Given the description of an element on the screen output the (x, y) to click on. 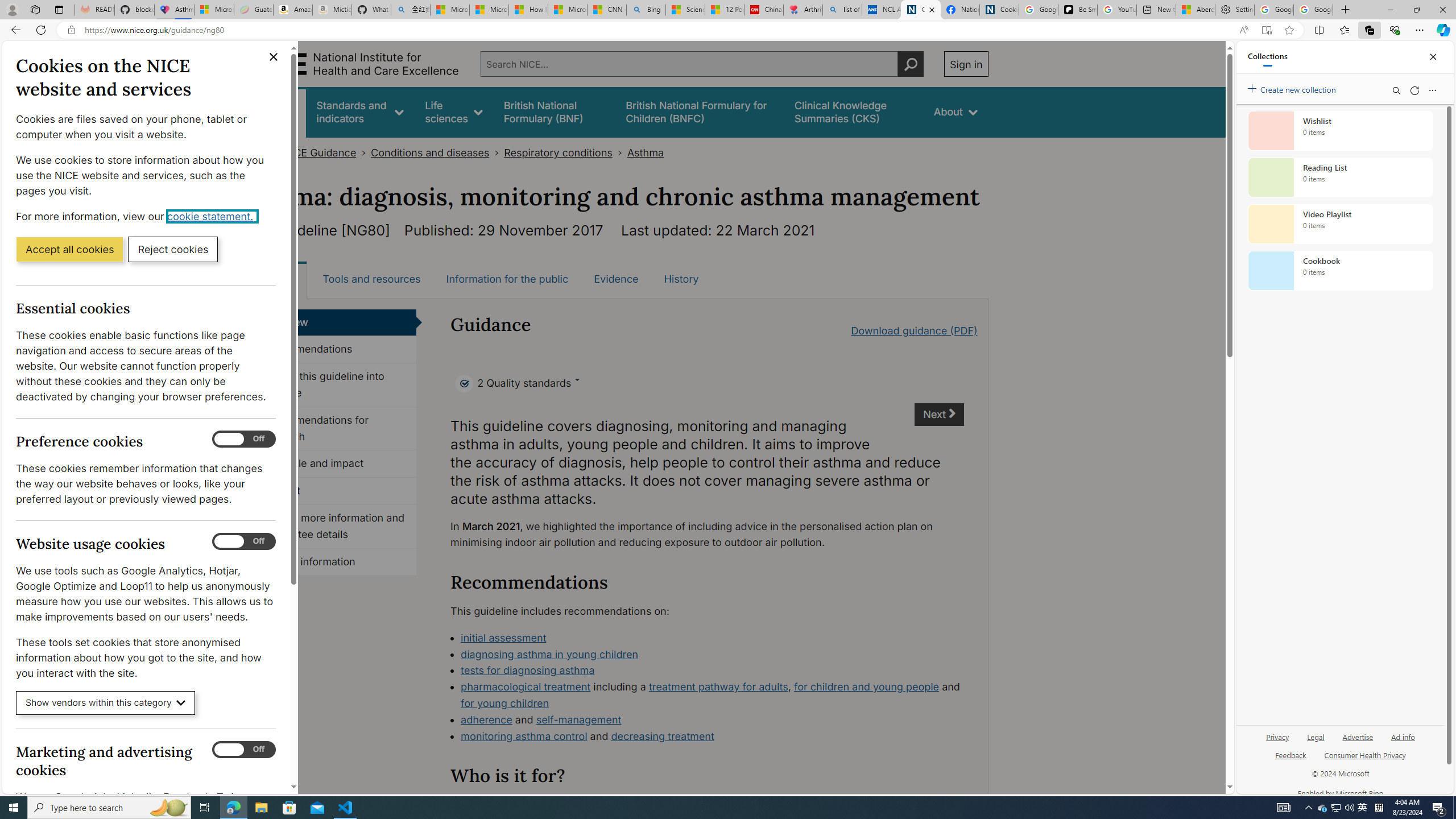
Show vendors within this category (105, 703)
Preference cookies (243, 438)
tests for diagnosing asthma (527, 670)
initial assessment (711, 638)
Perform search (909, 63)
